Given the description of an element on the screen output the (x, y) to click on. 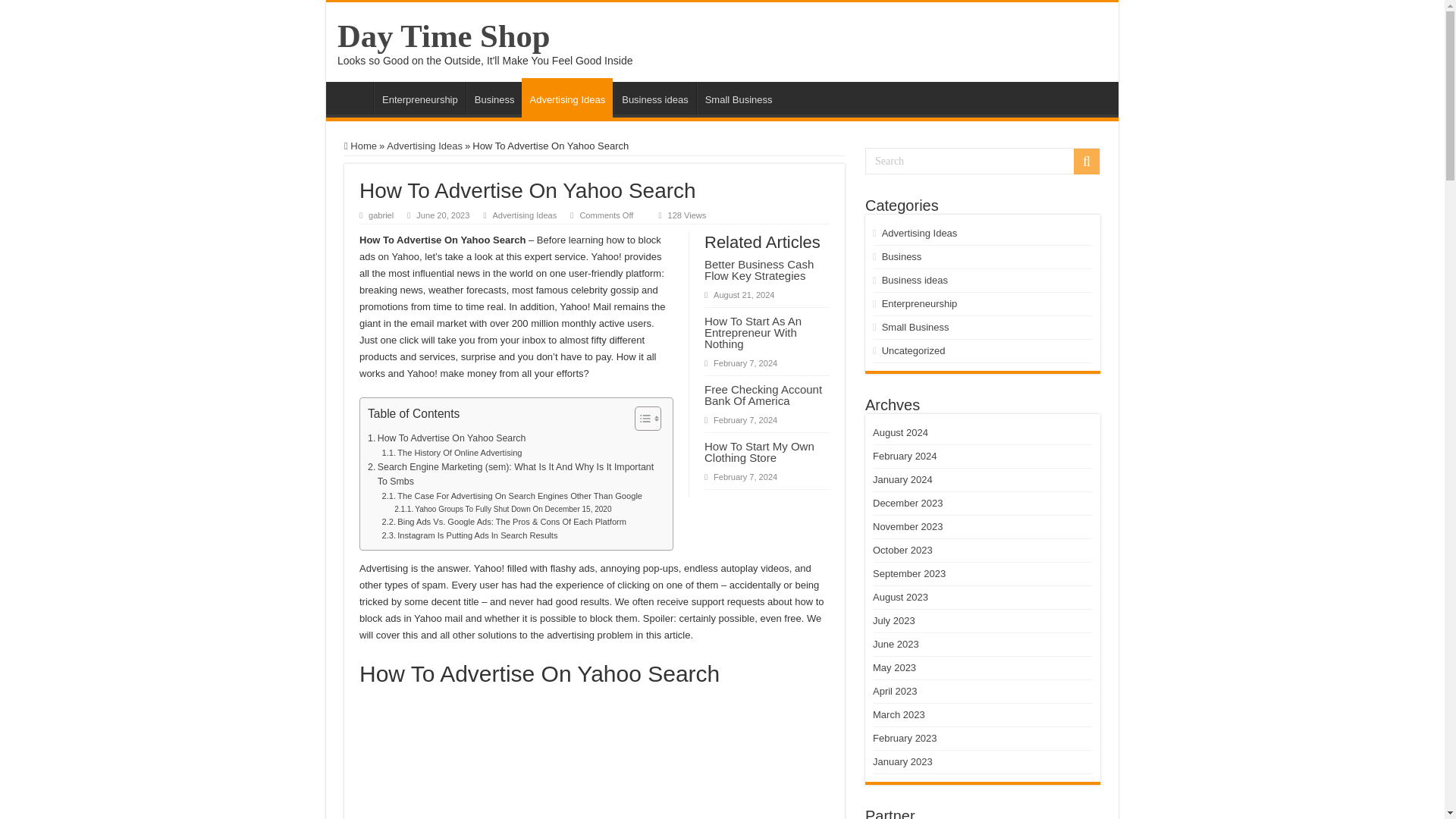
The Case For Advertising On Search Engines Other Than Google (512, 496)
Advertising Ideas (425, 145)
Uncategorized (913, 350)
Free Checking Account Bank Of America (763, 395)
Enterpreneurship (920, 303)
Enterpreneurship (419, 97)
Advertising Ideas (525, 215)
Instagram Is Putting Ads In Search Results (469, 535)
Business (901, 256)
How To Advertise On Yahoo Search (446, 438)
